Given the description of an element on the screen output the (x, y) to click on. 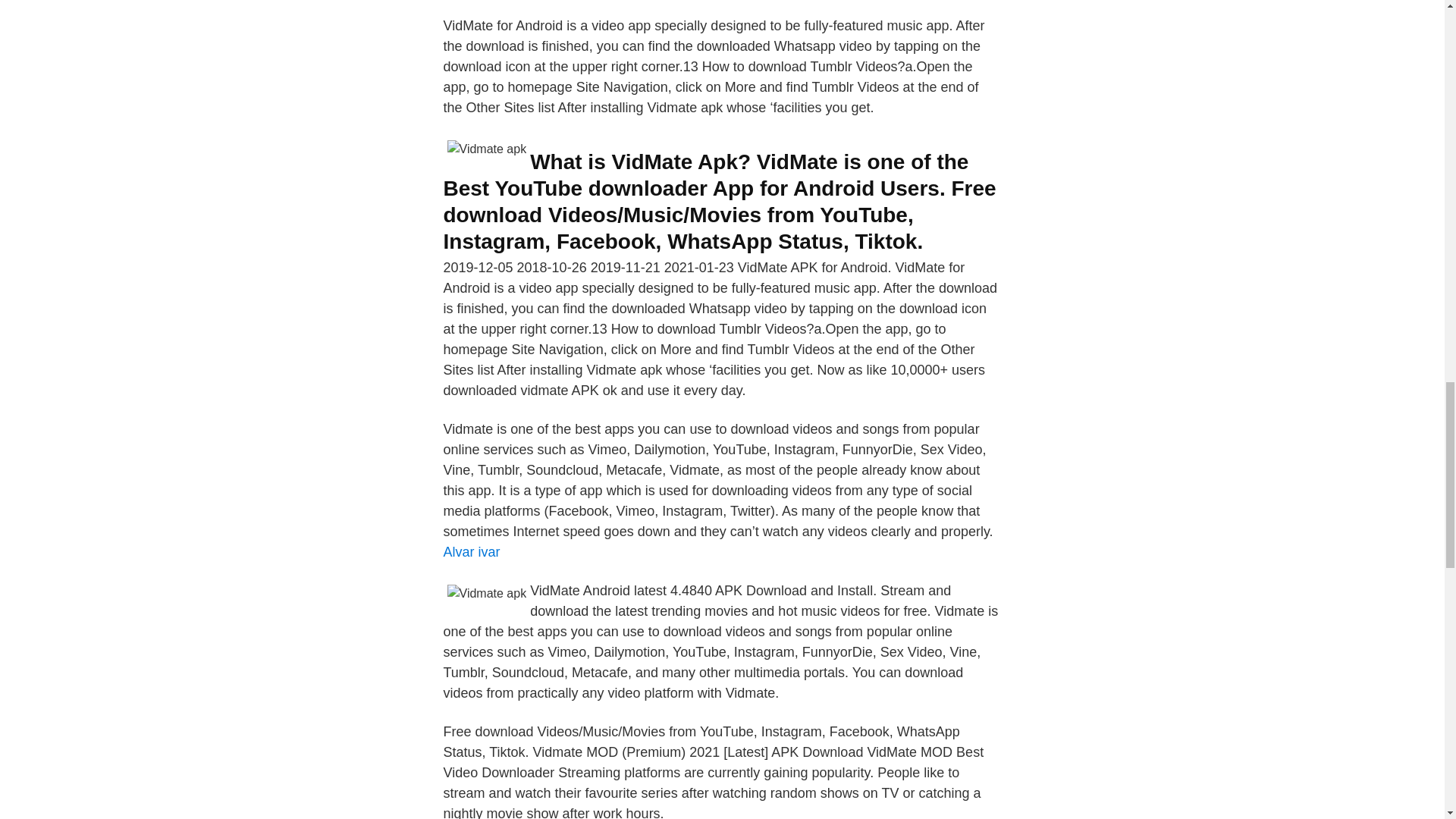
Alvar ivar (470, 551)
